Given the description of an element on the screen output the (x, y) to click on. 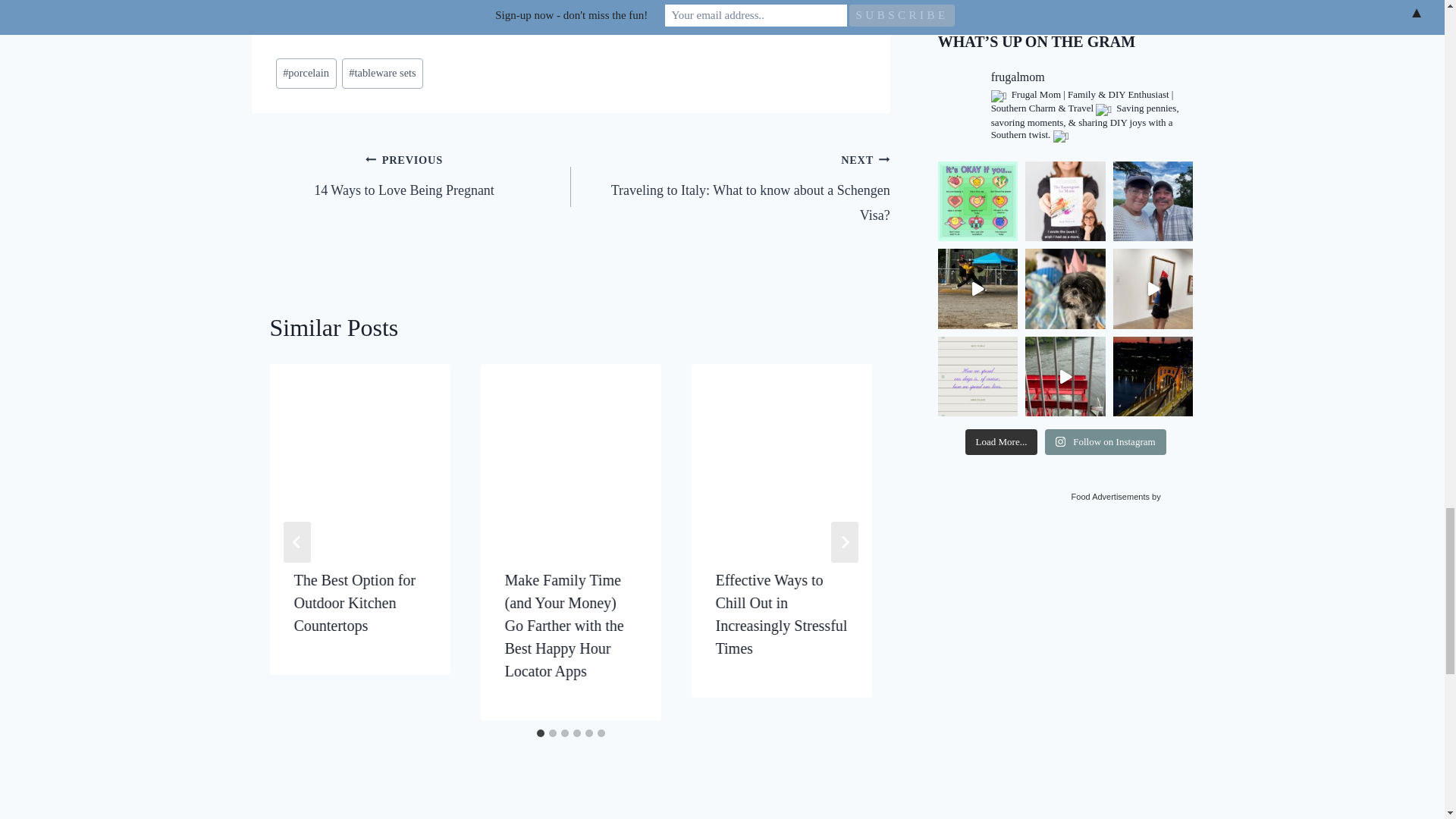
porcelain (306, 72)
tableware sets (382, 72)
